Given the description of an element on the screen output the (x, y) to click on. 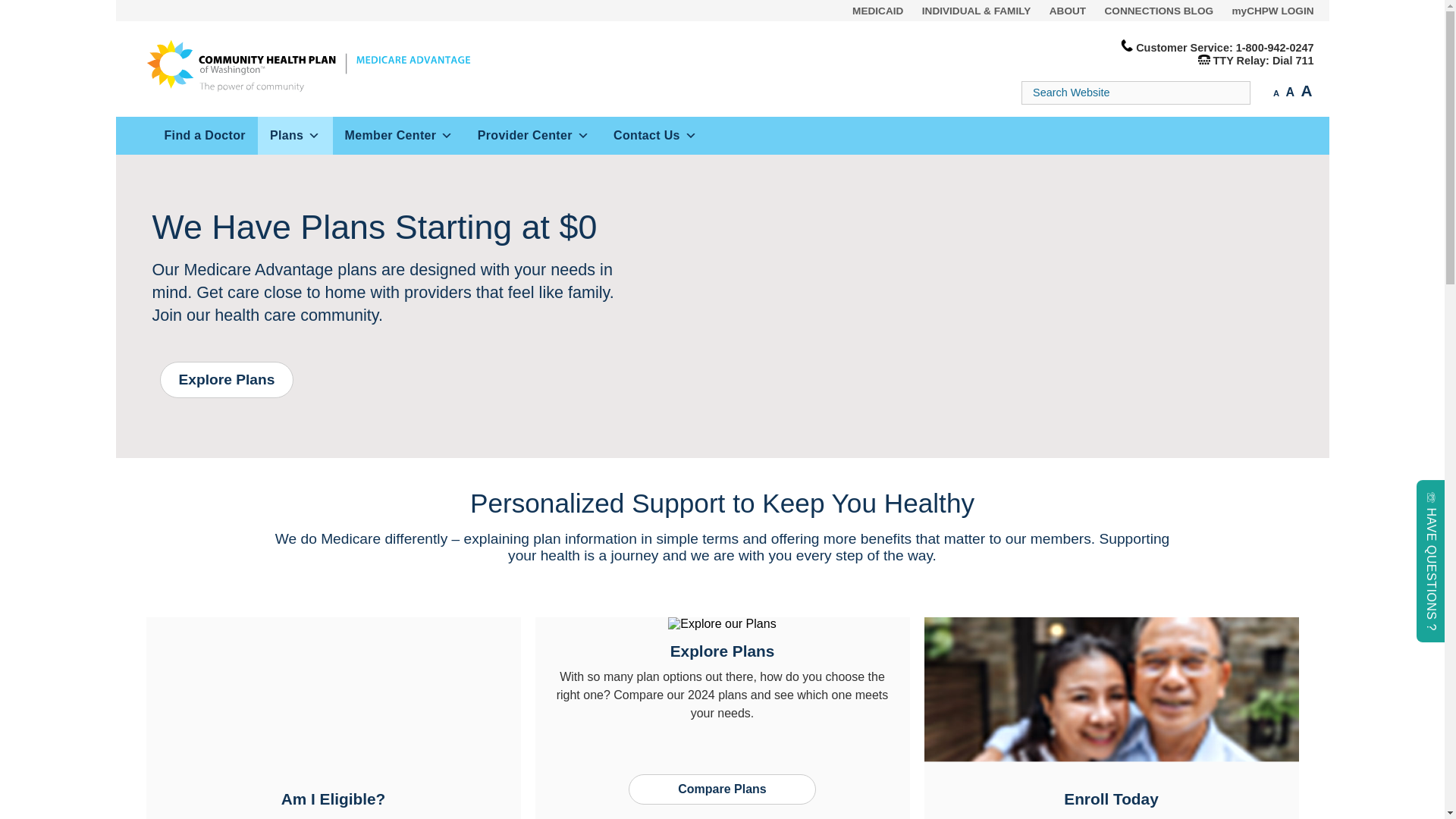
myCHPW LOGIN (1272, 10)
Browse all plan options and compare coverage. (722, 788)
Find a Doctor (204, 135)
TTY Relay: Dial 711 (1263, 60)
MEDICAID (876, 10)
Member Center (399, 135)
CONNECTIONS BLOG (1159, 10)
Plans (295, 135)
Use the TTY relay if you are deaf or hard of hearing. (1263, 60)
Explore 2024 Medicare Advantage Plans (226, 379)
ABOUT (1067, 10)
search (30, 10)
Customer Service: 1-800-942-0247 (1224, 47)
